Given the description of an element on the screen output the (x, y) to click on. 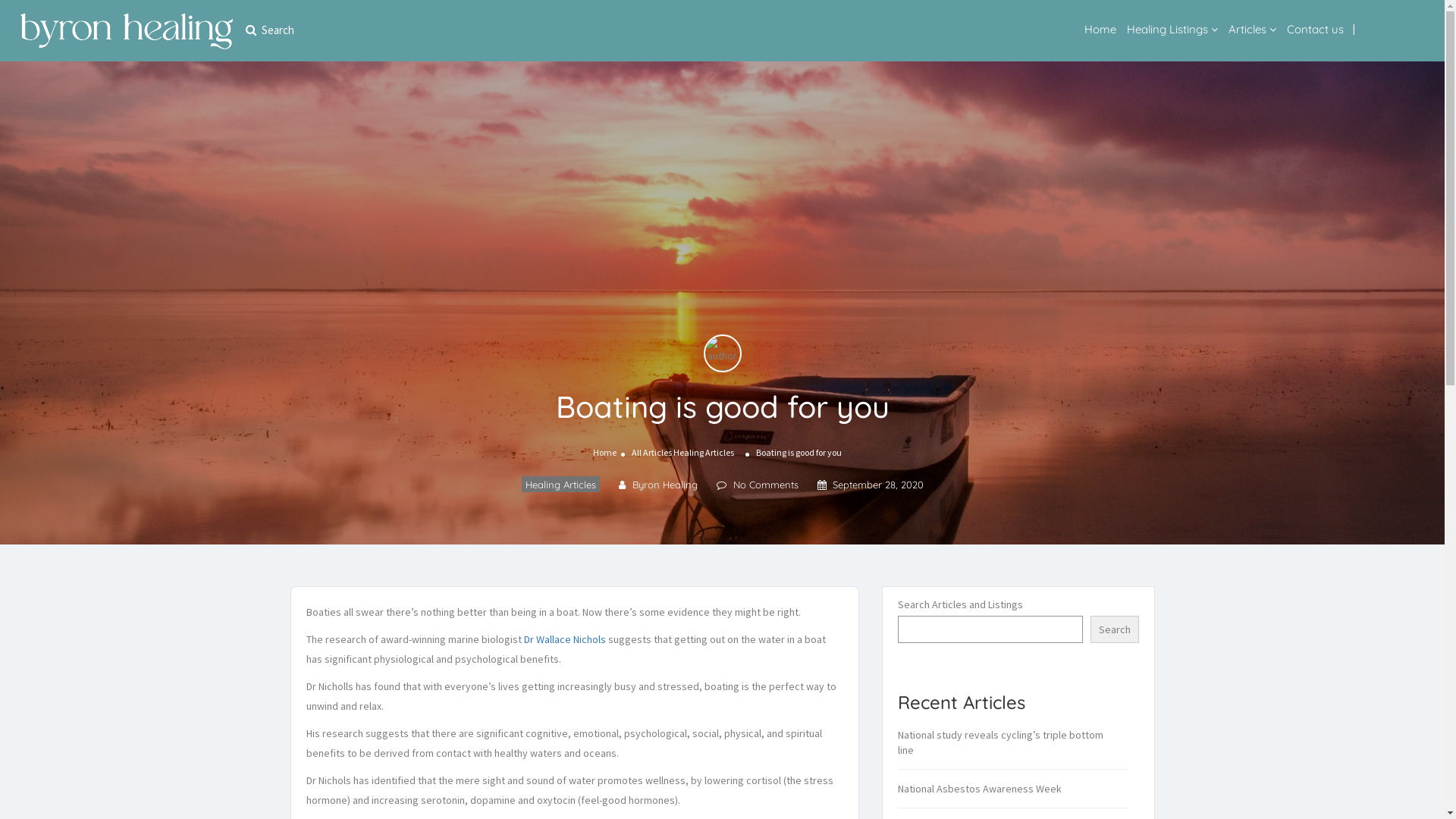
No Comments Element type: text (756, 484)
Dr Wallace Nichols Element type: text (564, 639)
All Articles Element type: text (651, 452)
National Asbestos Awareness Week Element type: text (986, 788)
Articles Element type: text (1247, 28)
Home Element type: text (1100, 28)
Contact us Element type: text (1314, 28)
Byron Healing Element type: text (657, 484)
Healing Listings Element type: text (1167, 28)
Search Element type: text (1114, 629)
Home Element type: text (604, 452)
Healing Articles Element type: text (560, 484)
Healing Articles Element type: text (703, 452)
